Given the description of an element on the screen output the (x, y) to click on. 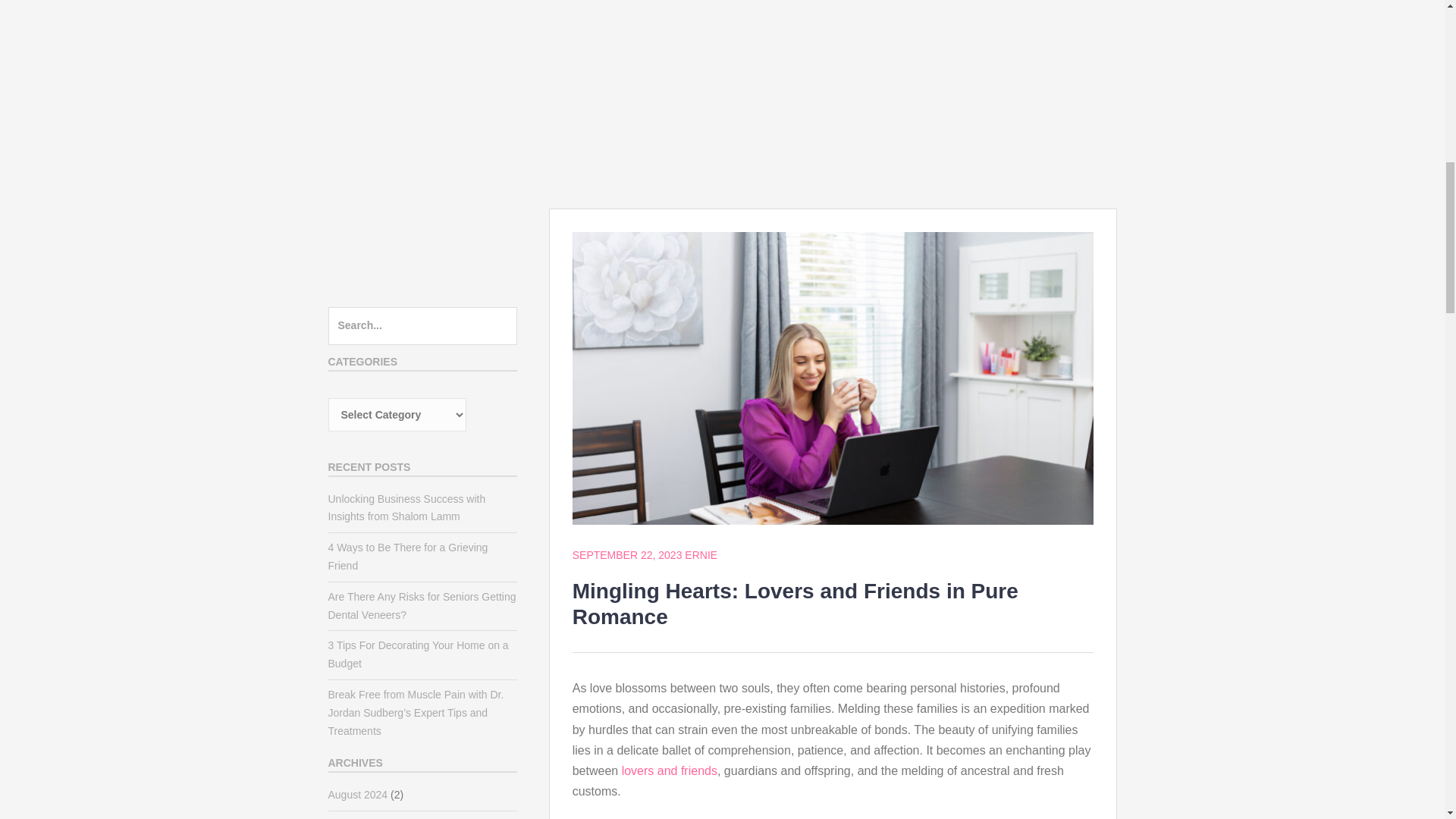
Are There Any Risks for Seniors Getting Dental Veneers? (421, 605)
August 2024 (357, 794)
4 Ways to Be There for a Grieving Friend (407, 556)
3 Tips For Decorating Your Home on a Budget (417, 654)
lovers and friends (669, 770)
Search for: (421, 325)
Unlocking Business Success with Insights from Shalom Lamm (405, 508)
ERNIE (700, 554)
SEPTEMBER 22, 2023 (627, 554)
